Given the description of an element on the screen output the (x, y) to click on. 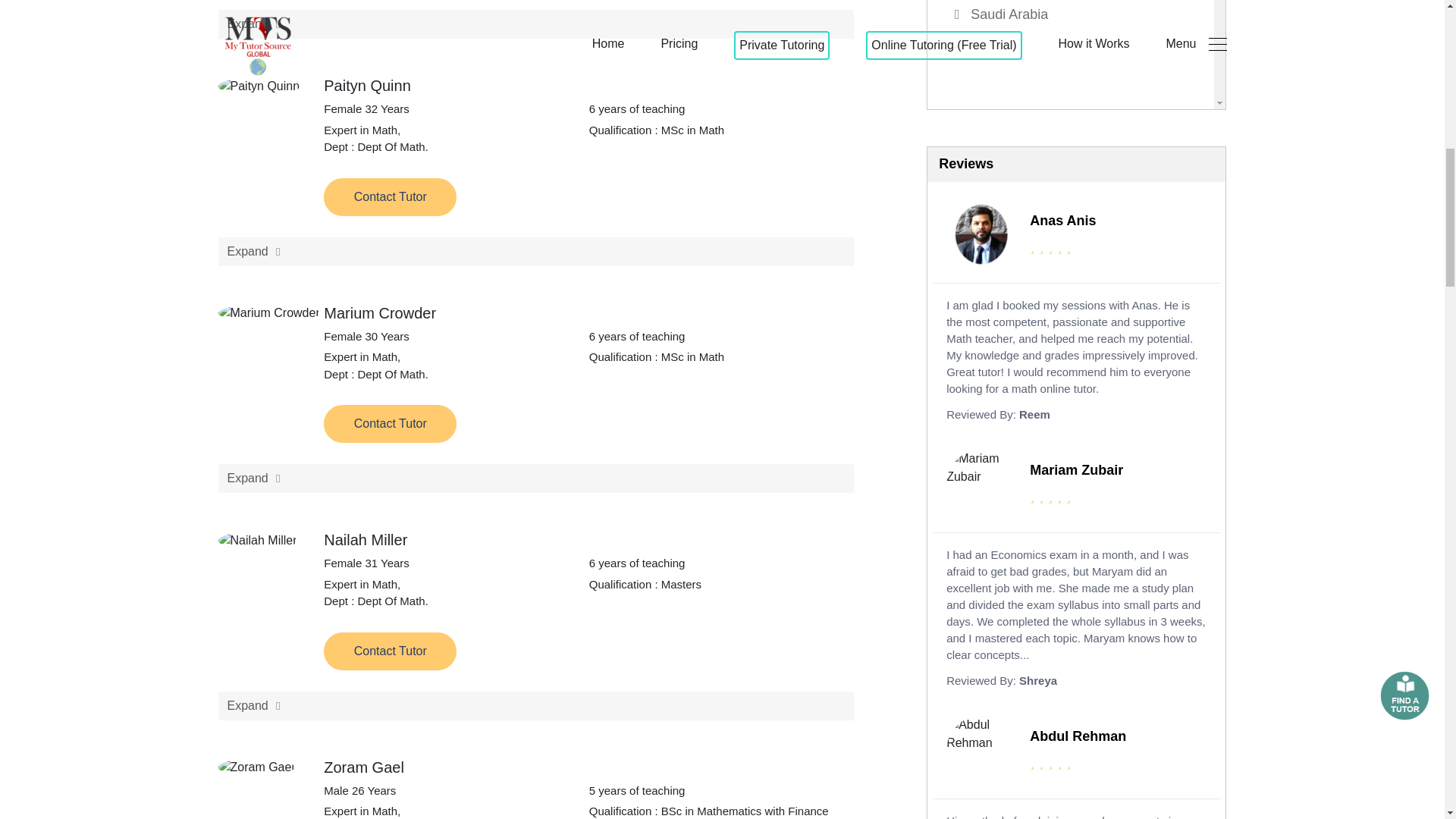
Expand (536, 250)
Contact Tutor (1076, 54)
Expand (390, 196)
